Given the description of an element on the screen output the (x, y) to click on. 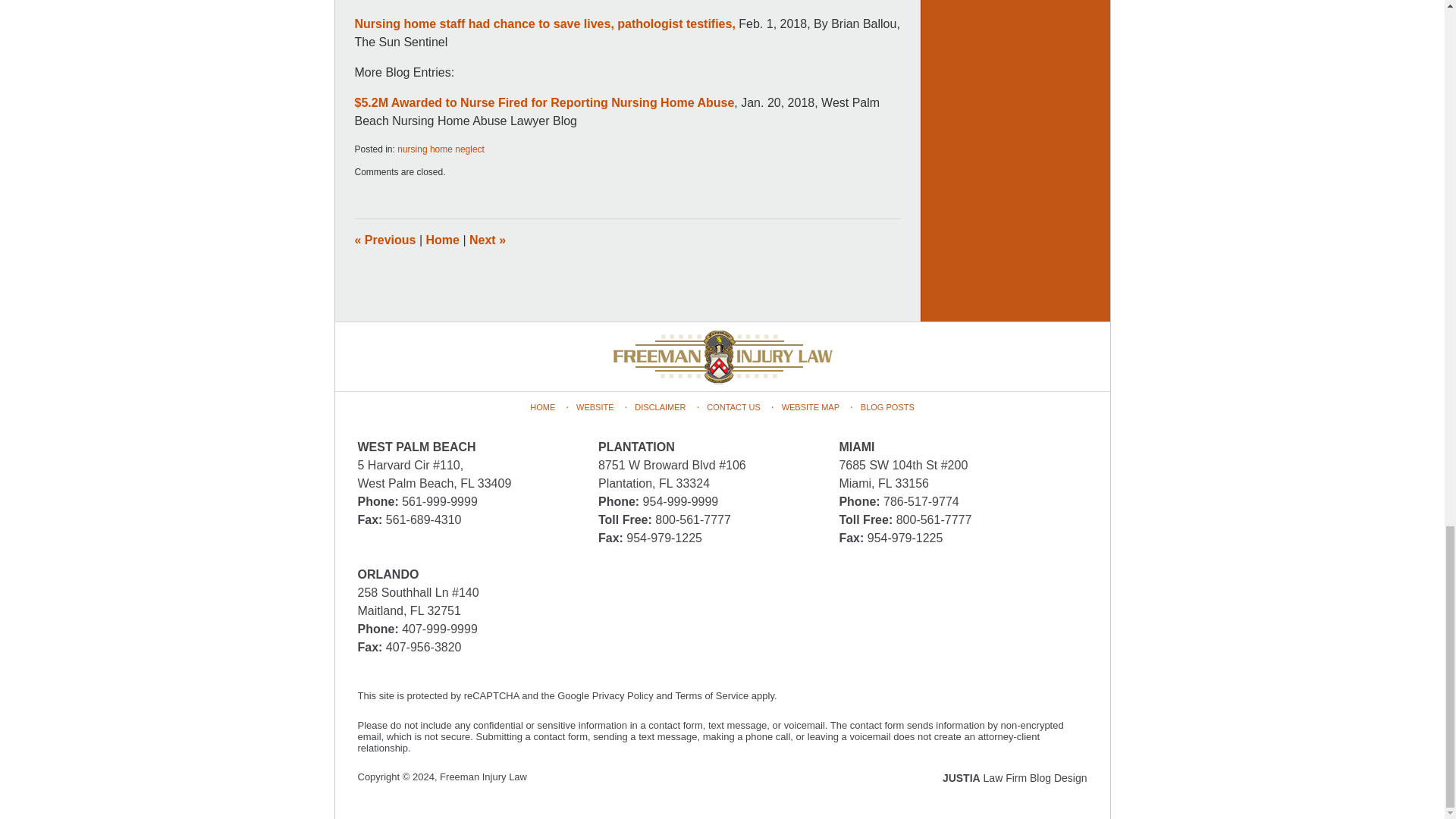
Home (443, 239)
View all posts in nursing home neglect (440, 149)
nursing home neglect (440, 149)
